Given the description of an element on the screen output the (x, y) to click on. 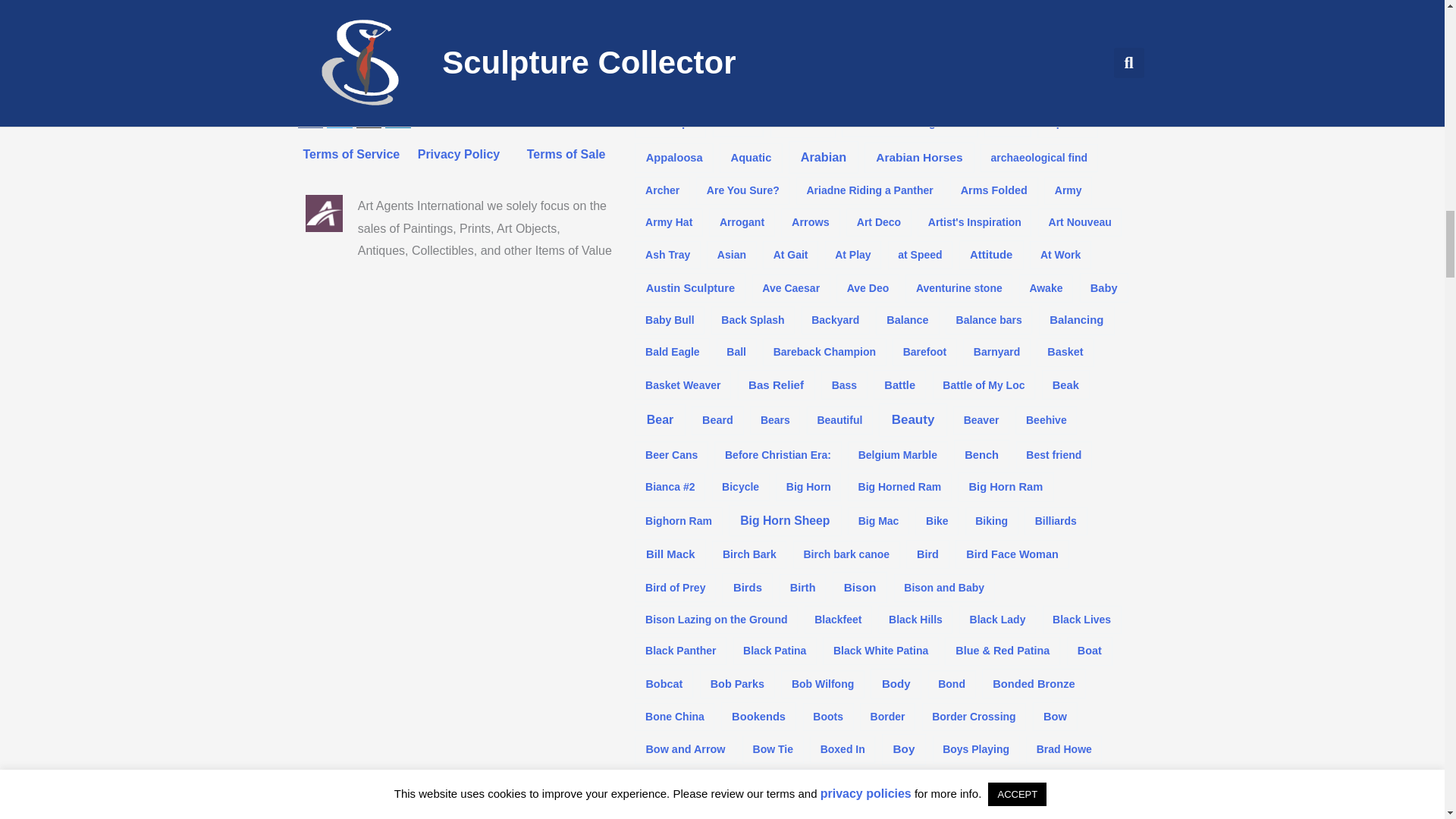
Instagram (368, 115)
Linkedin (397, 115)
Twitter (339, 115)
Terms of Service (350, 154)
Facebook-f (310, 115)
Search (600, 46)
Privacy Policy (458, 154)
